Given the description of an element on the screen output the (x, y) to click on. 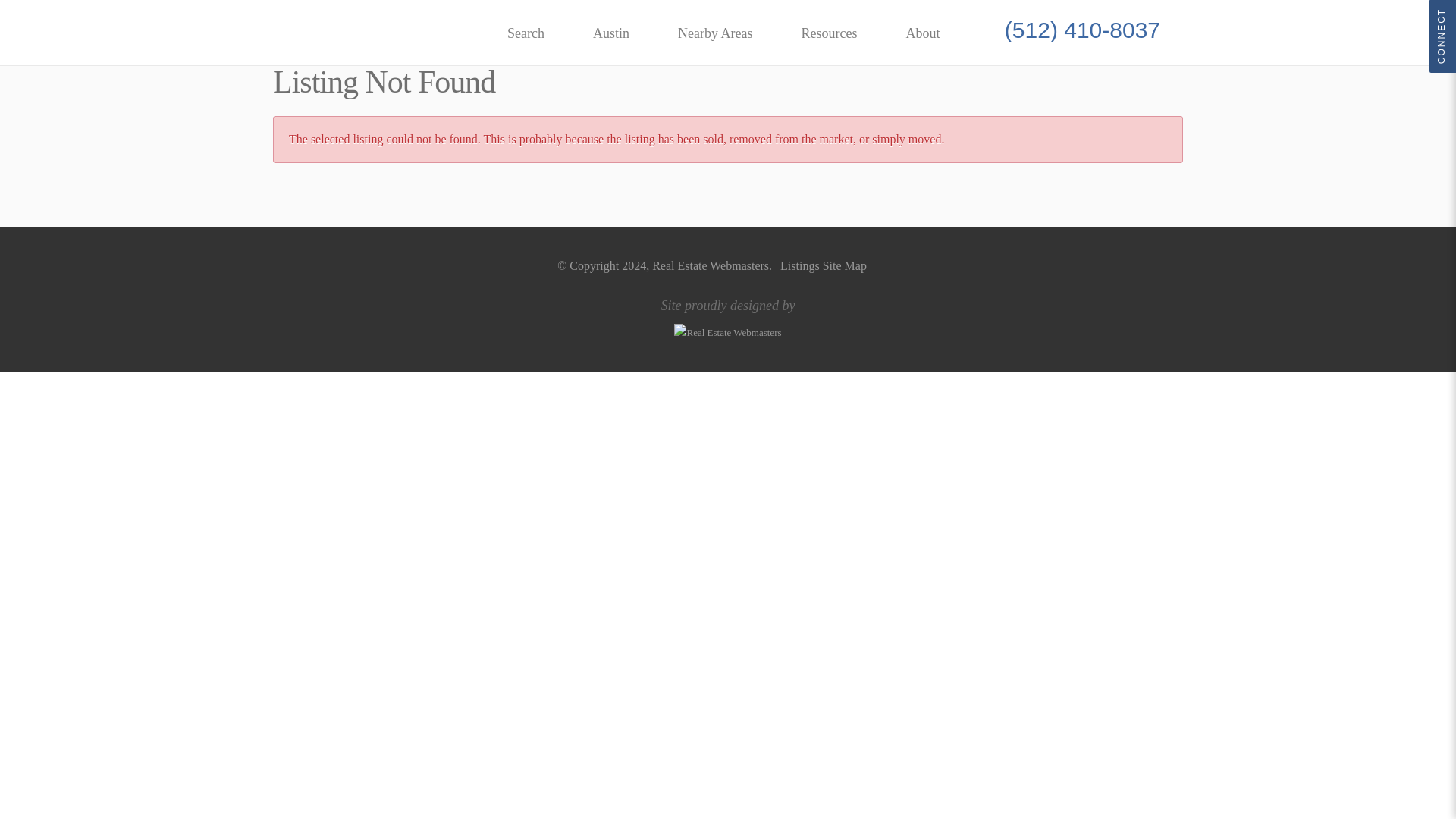
Resources (828, 33)
Austin (611, 33)
Real Estate Web Design by Real Estate Webmasters (928, 344)
Nearby Areas (714, 33)
Search (525, 33)
